Given the description of an element on the screen output the (x, y) to click on. 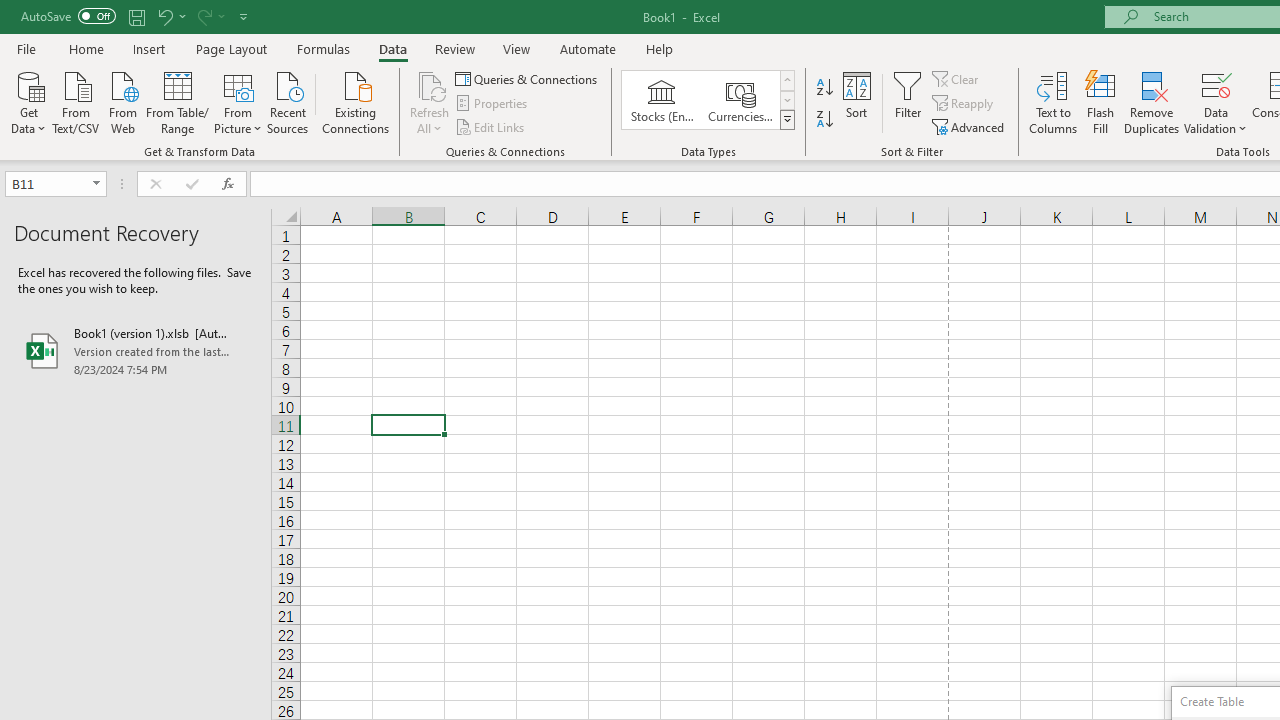
Refresh All (429, 84)
From Text/CSV (75, 101)
Queries & Connections (527, 78)
Stocks (English) (662, 100)
Data Types (786, 120)
Currencies (English) (740, 100)
Row up (786, 79)
Advanced... (970, 126)
Sort Z to A (824, 119)
